Given the description of an element on the screen output the (x, y) to click on. 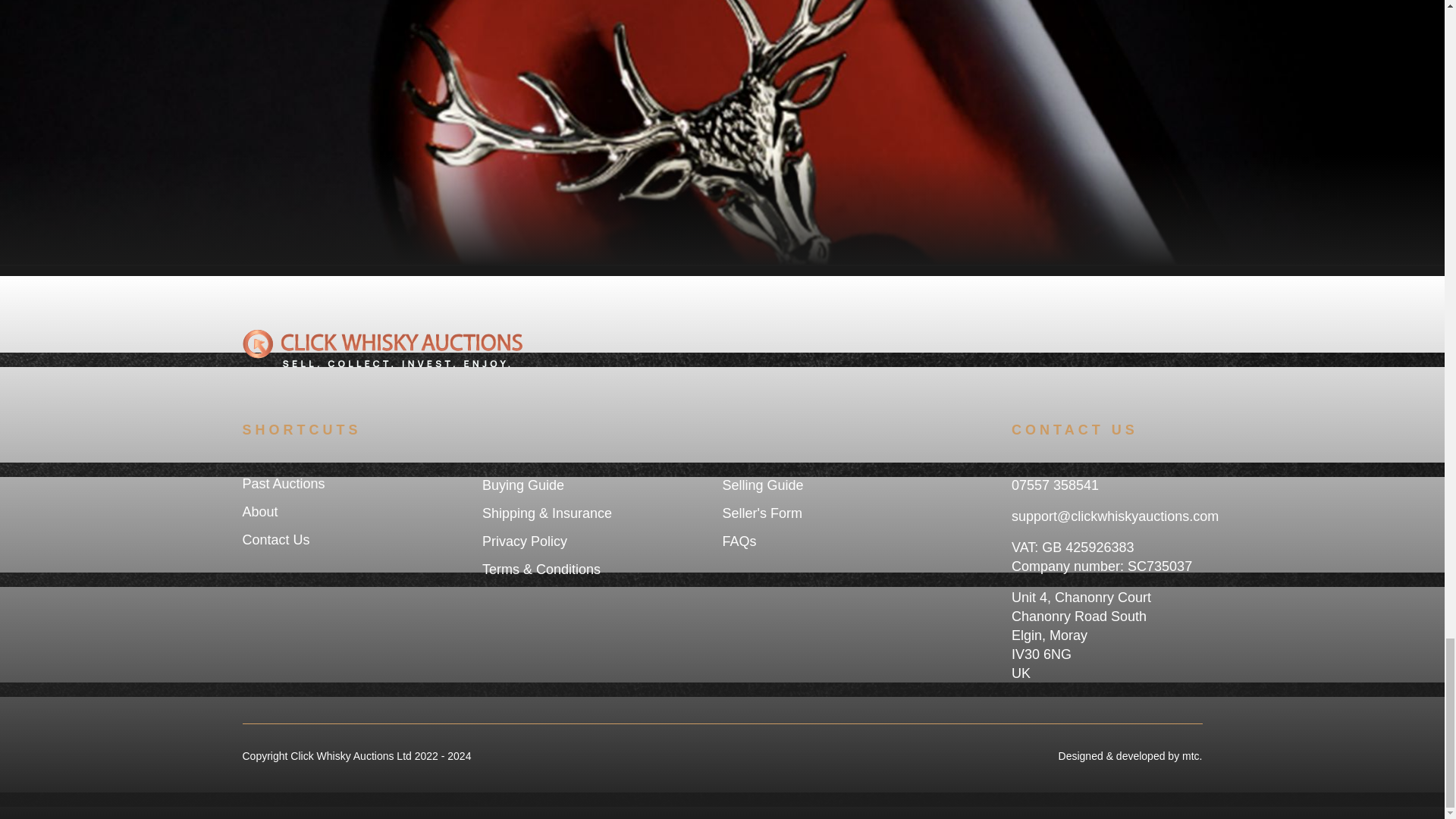
Opens in a new window (1192, 756)
Opens in a new window (1082, 756)
